Given the description of an element on the screen output the (x, y) to click on. 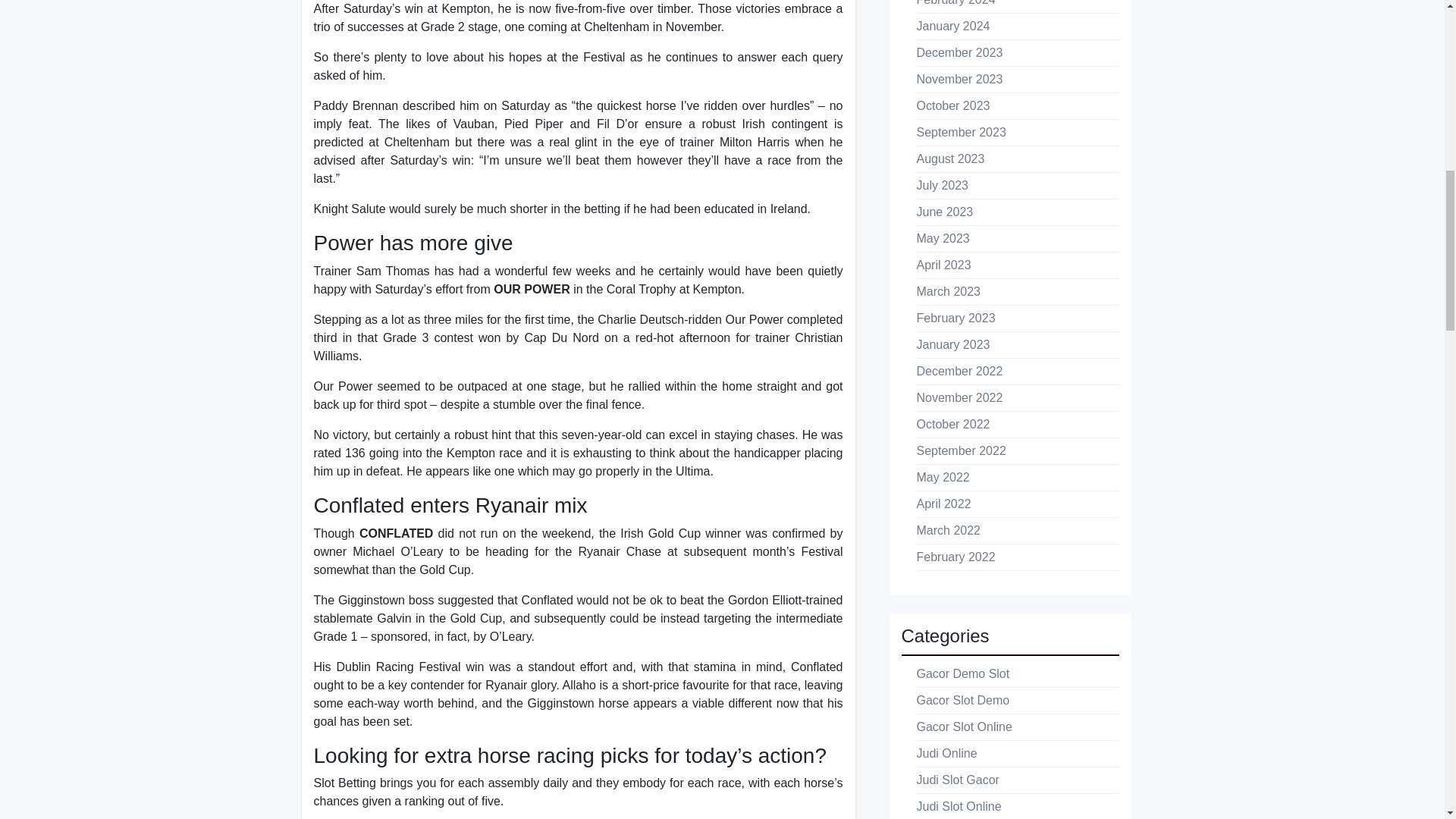
May 2022 (942, 477)
November 2023 (959, 78)
October 2023 (952, 105)
December 2022 (959, 370)
July 2023 (941, 185)
April 2023 (943, 264)
June 2023 (943, 211)
March 2023 (947, 291)
January 2024 (952, 25)
December 2023 (959, 51)
October 2022 (952, 423)
September 2023 (960, 132)
February 2023 (954, 318)
January 2023 (952, 344)
February 2024 (954, 2)
